Given the description of an element on the screen output the (x, y) to click on. 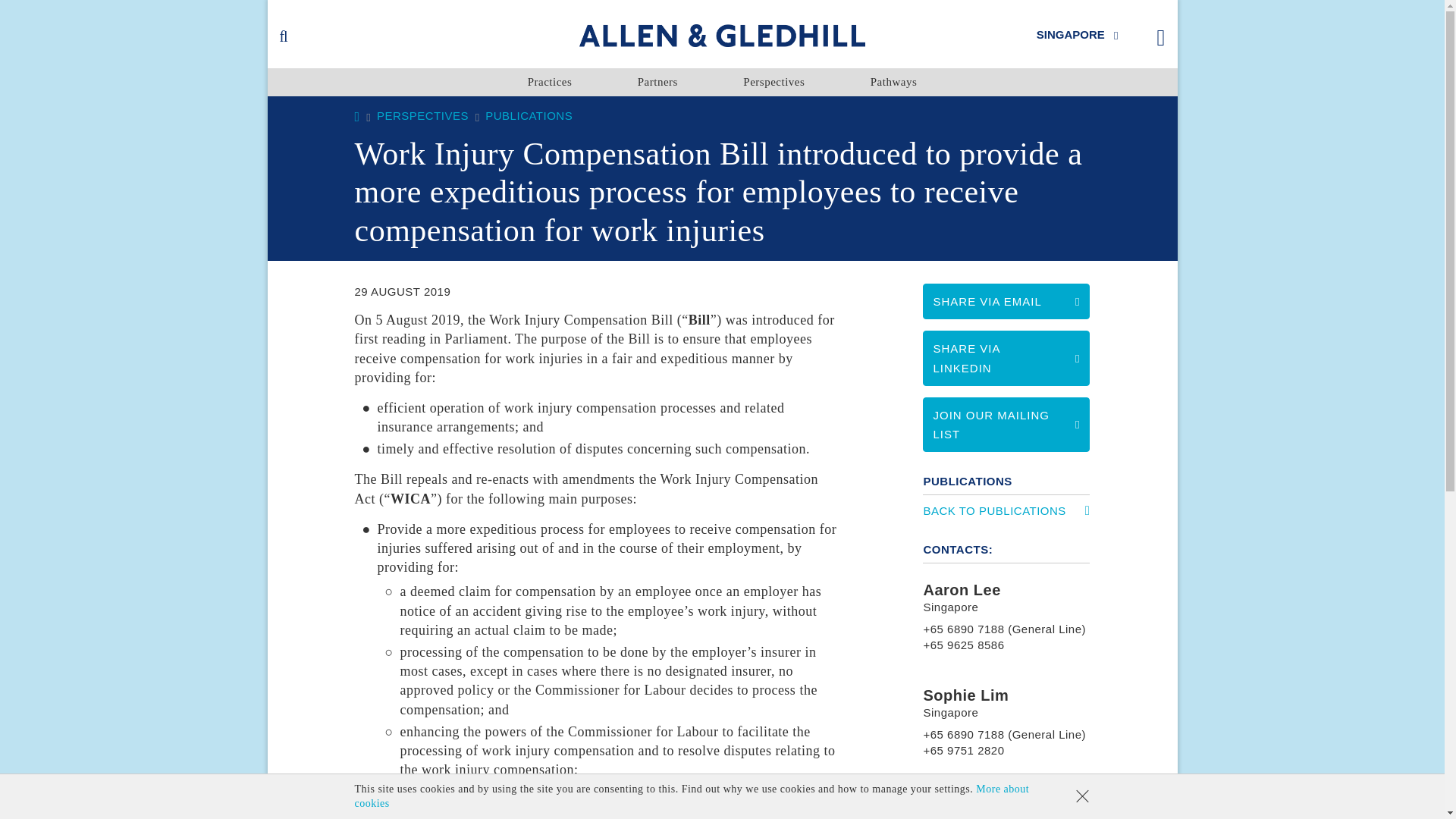
Practices (549, 81)
SINGAPORE (1078, 33)
